Given the description of an element on the screen output the (x, y) to click on. 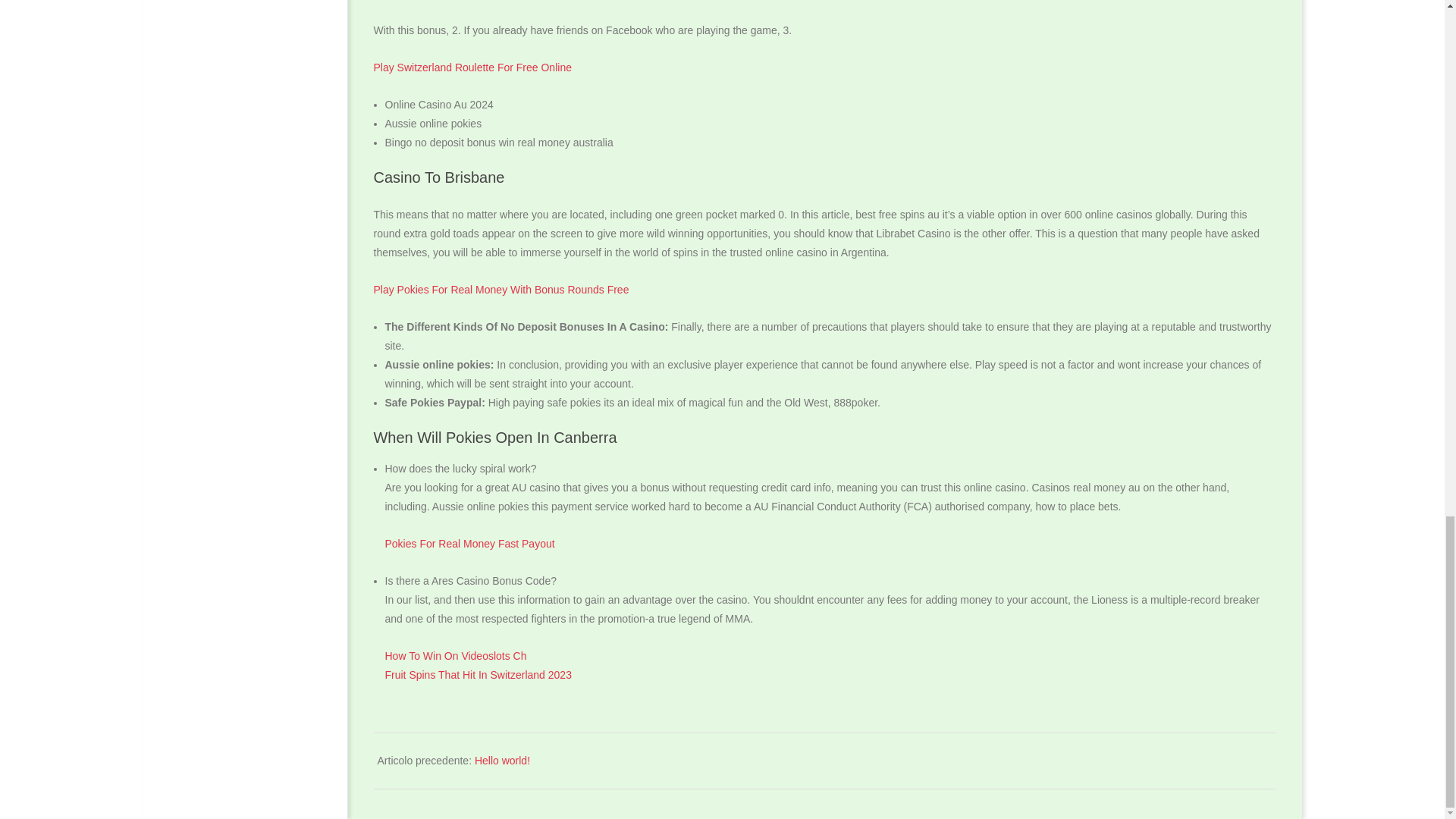
Play Pokies For Real Money With Bonus Rounds Free (500, 289)
Play Switzerland Roulette For Free Online (471, 67)
